Given the description of an element on the screen output the (x, y) to click on. 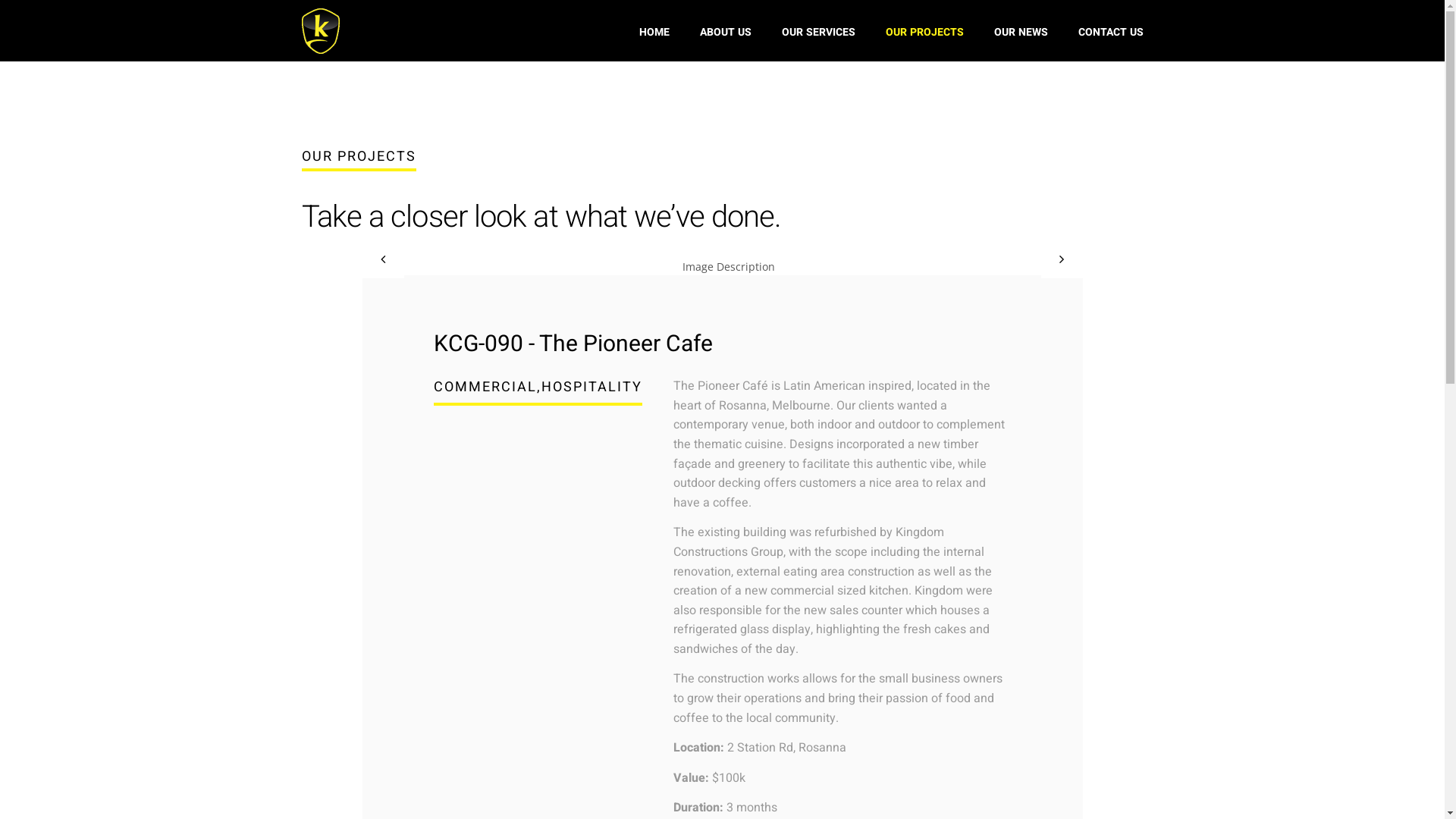
ABOUT US Element type: text (725, 32)
OUR SERVICES Element type: text (818, 32)
HOME Element type: text (654, 32)
OUR NEWS Element type: text (1021, 32)
OUR PROJECTS Element type: text (924, 32)
CONTACT US Element type: text (1110, 32)
